Given the description of an element on the screen output the (x, y) to click on. 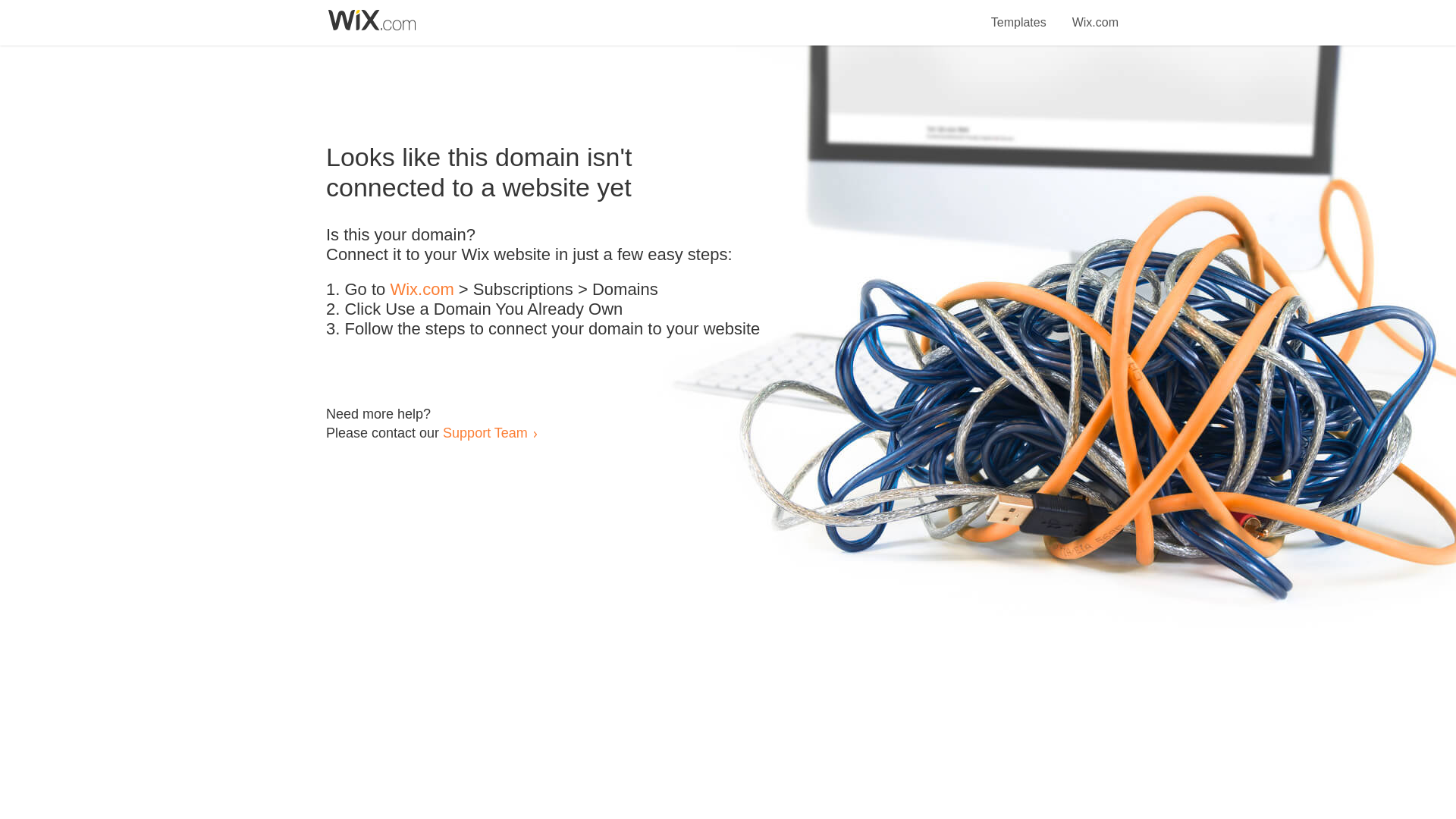
Wix.com (1095, 14)
Support Team (484, 432)
Wix.com (421, 289)
Templates (1018, 14)
